Given the description of an element on the screen output the (x, y) to click on. 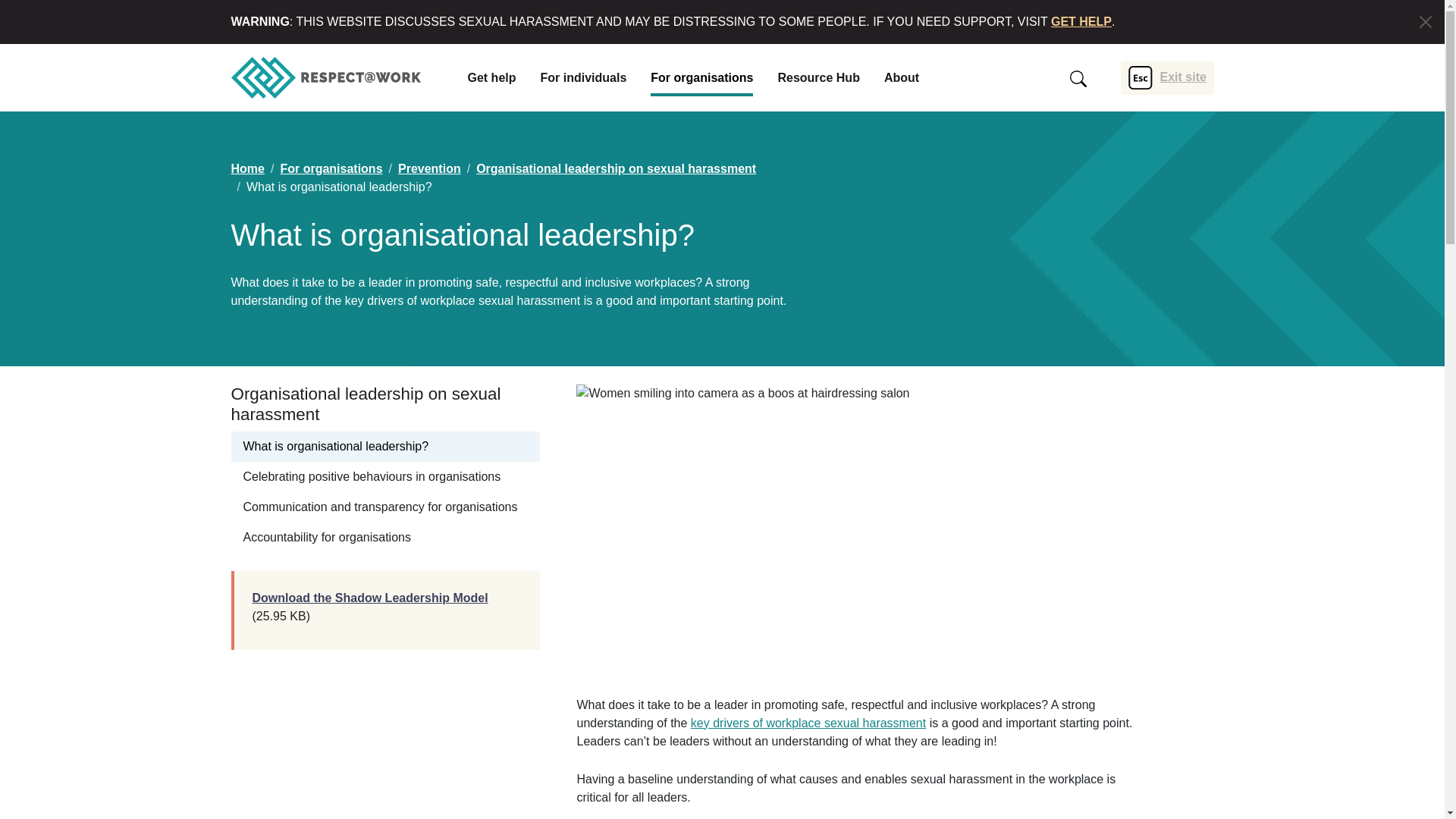
GET HELP (1081, 21)
Get help (491, 76)
key drivers of workplace sexual harassment (808, 722)
Communication and transparency for organisations (385, 507)
For organisations (701, 76)
Download the Shadow Leadership Model (369, 597)
Exit site (1166, 77)
Prevention (429, 168)
Home (246, 168)
For individuals (583, 76)
